Given the description of an element on the screen output the (x, y) to click on. 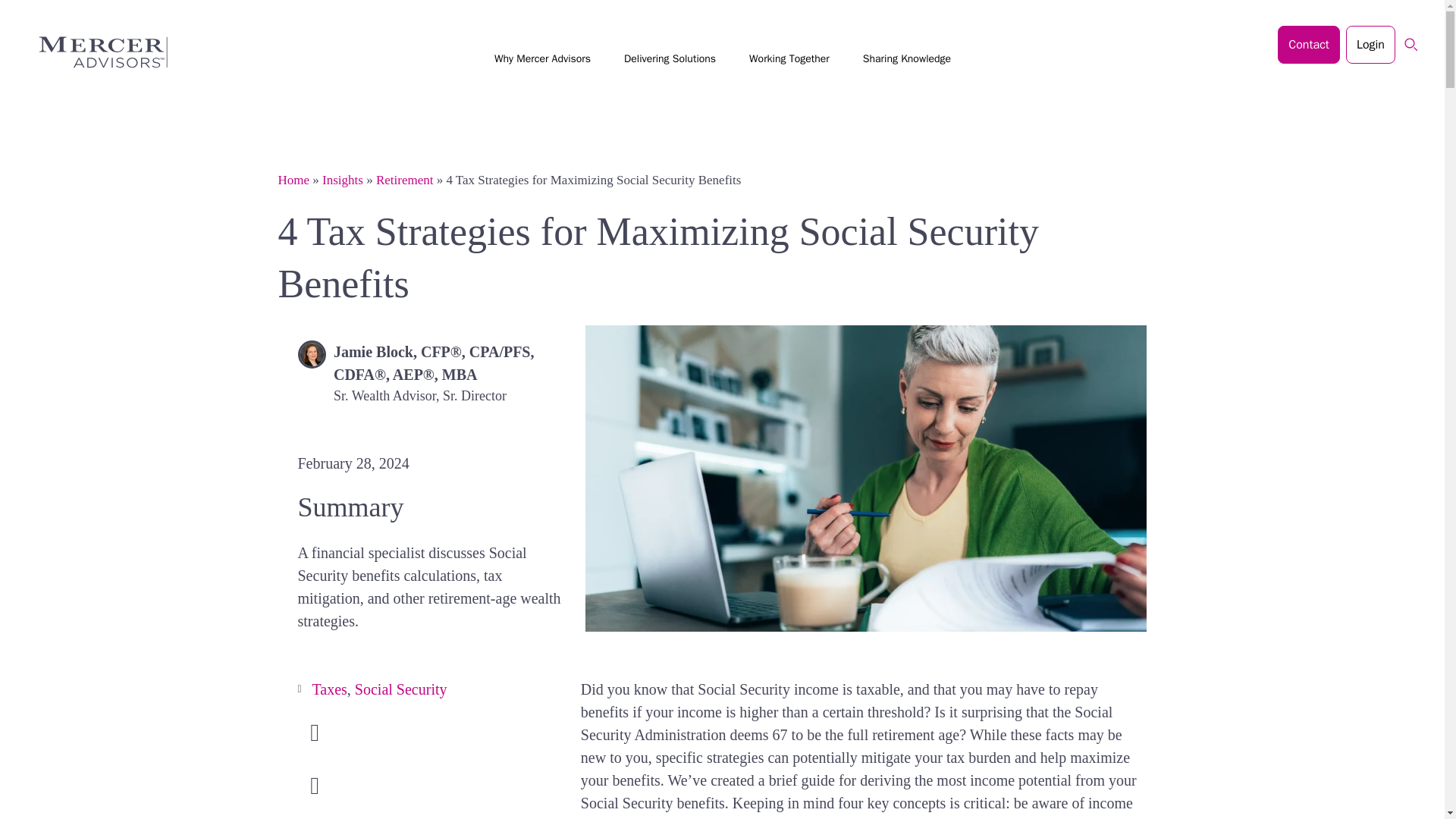
Working Together (788, 60)
Why Mercer Advisors (541, 60)
Sharing Knowledge (906, 60)
Mercer Advisors (95, 51)
Delivering Solutions (669, 60)
